Given the description of an element on the screen output the (x, y) to click on. 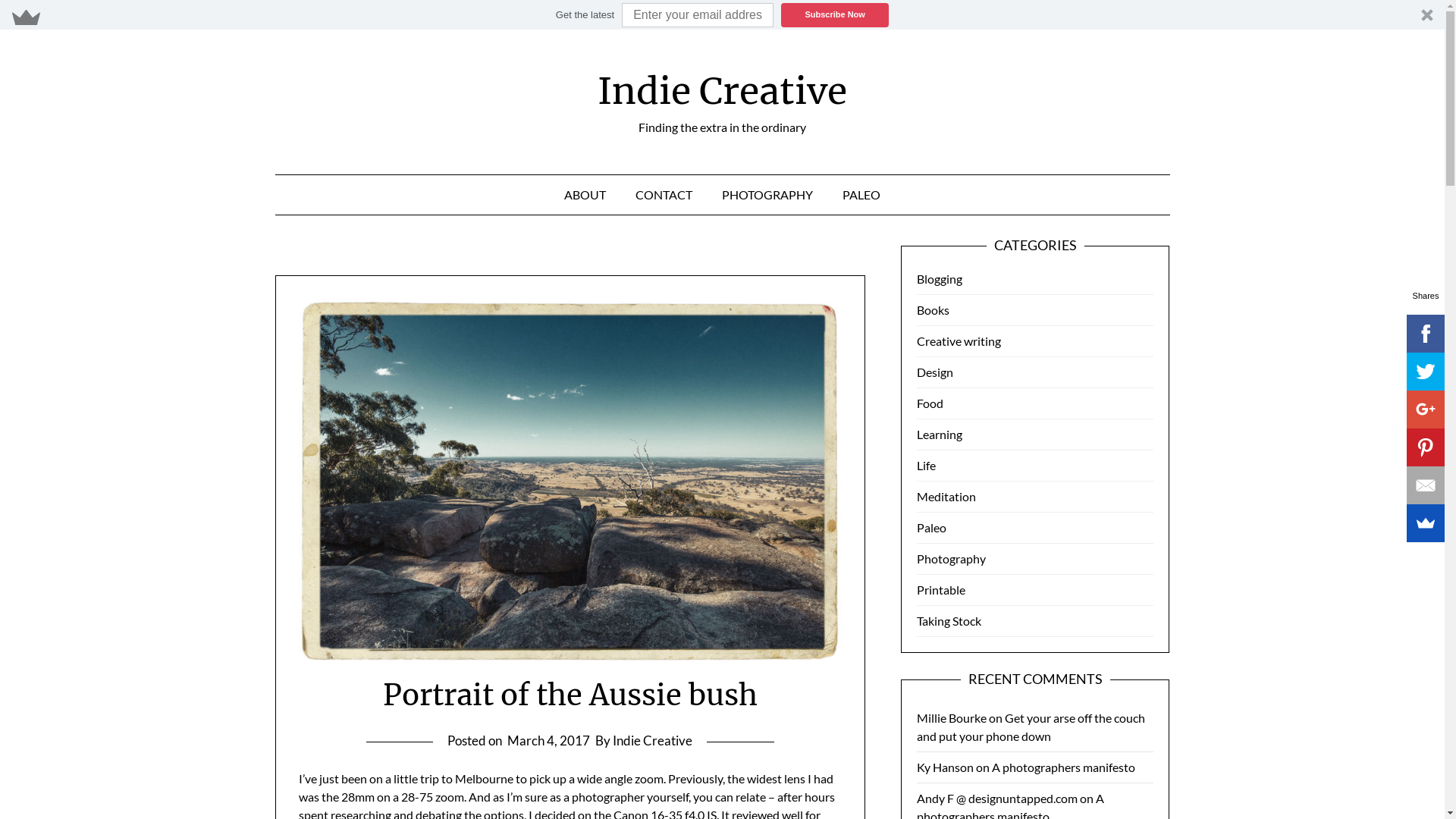
Email Element type: hover (1425, 485)
ABOUT Element type: text (585, 194)
Andy F @ designuntapped.com Element type: text (996, 797)
Food Element type: text (929, 402)
Pinterest Element type: hover (1425, 447)
Ky Hanson Element type: text (944, 766)
Meditation Element type: text (945, 496)
Google+ Element type: hover (1425, 409)
PALEO Element type: text (860, 194)
Printable Element type: text (940, 589)
SumoMe Element type: hover (1425, 523)
Paleo Element type: text (931, 527)
Get your arse off the couch and put your phone down Element type: text (1030, 726)
Photography Element type: text (950, 558)
Learning Element type: text (939, 433)
Blogging Element type: text (939, 278)
March 4, 2017 Element type: text (548, 740)
Facebook Element type: hover (1425, 333)
CONTACT Element type: text (663, 194)
Subscribe Now Element type: text (834, 15)
Twitter Element type: hover (1425, 371)
Taking Stock Element type: text (948, 620)
Indie Creative Element type: text (721, 90)
Life Element type: text (925, 465)
A photographers manifesto Element type: text (1063, 766)
Design Element type: text (934, 371)
PHOTOGRAPHY Element type: text (767, 194)
Books Element type: text (932, 309)
Creative writing Element type: text (958, 340)
